Given the description of an element on the screen output the (x, y) to click on. 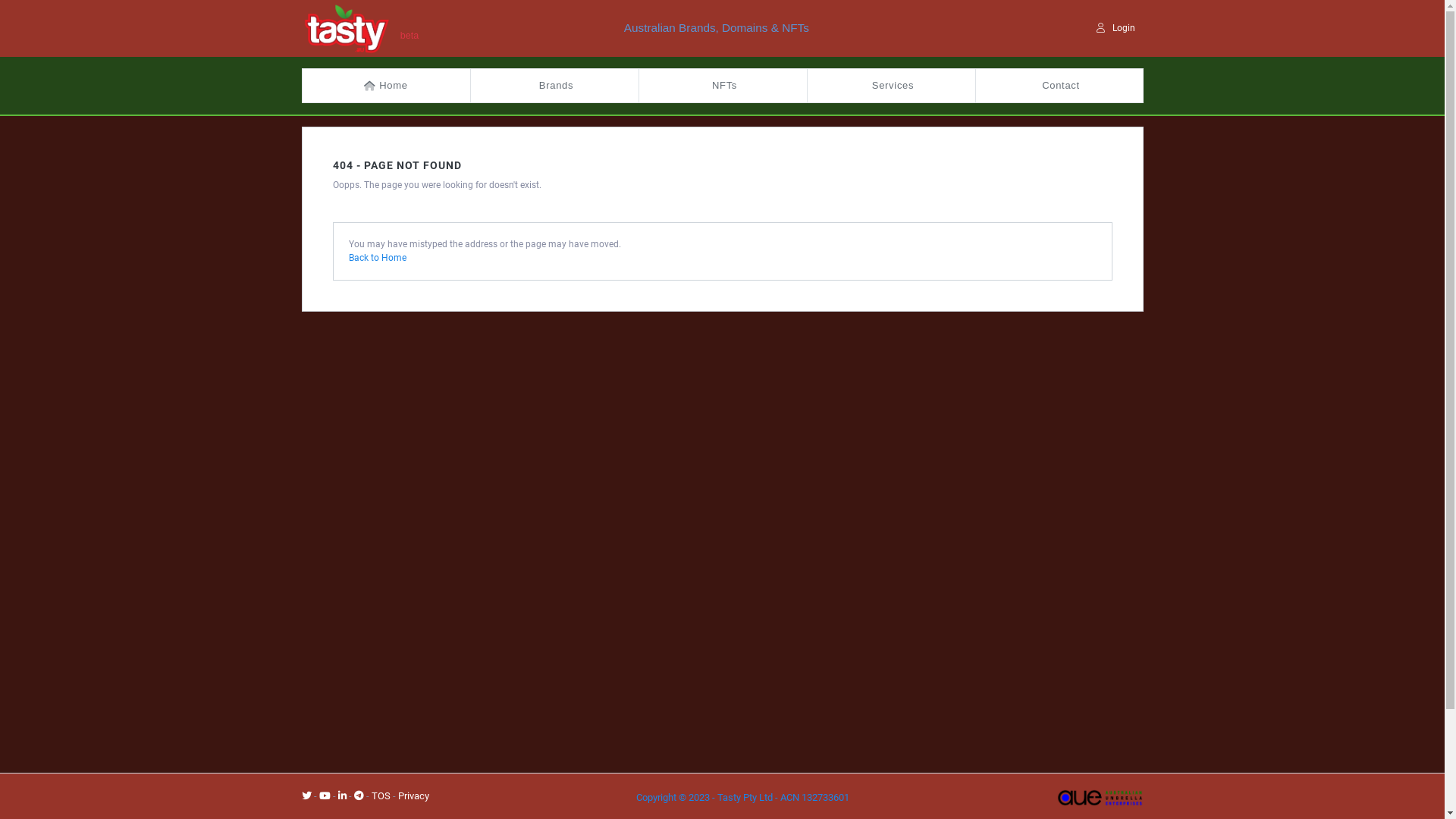
Privacy Element type: text (412, 795)
NFTs Element type: text (722, 85)
Home Element type: text (385, 85)
beta Element type: text (359, 25)
TOS Element type: text (380, 795)
Contact Element type: text (1059, 85)
Login Element type: text (1115, 28)
Brands Element type: text (554, 85)
Services Element type: text (890, 85)
Back to Home Element type: text (377, 257)
